Given the description of an element on the screen output the (x, y) to click on. 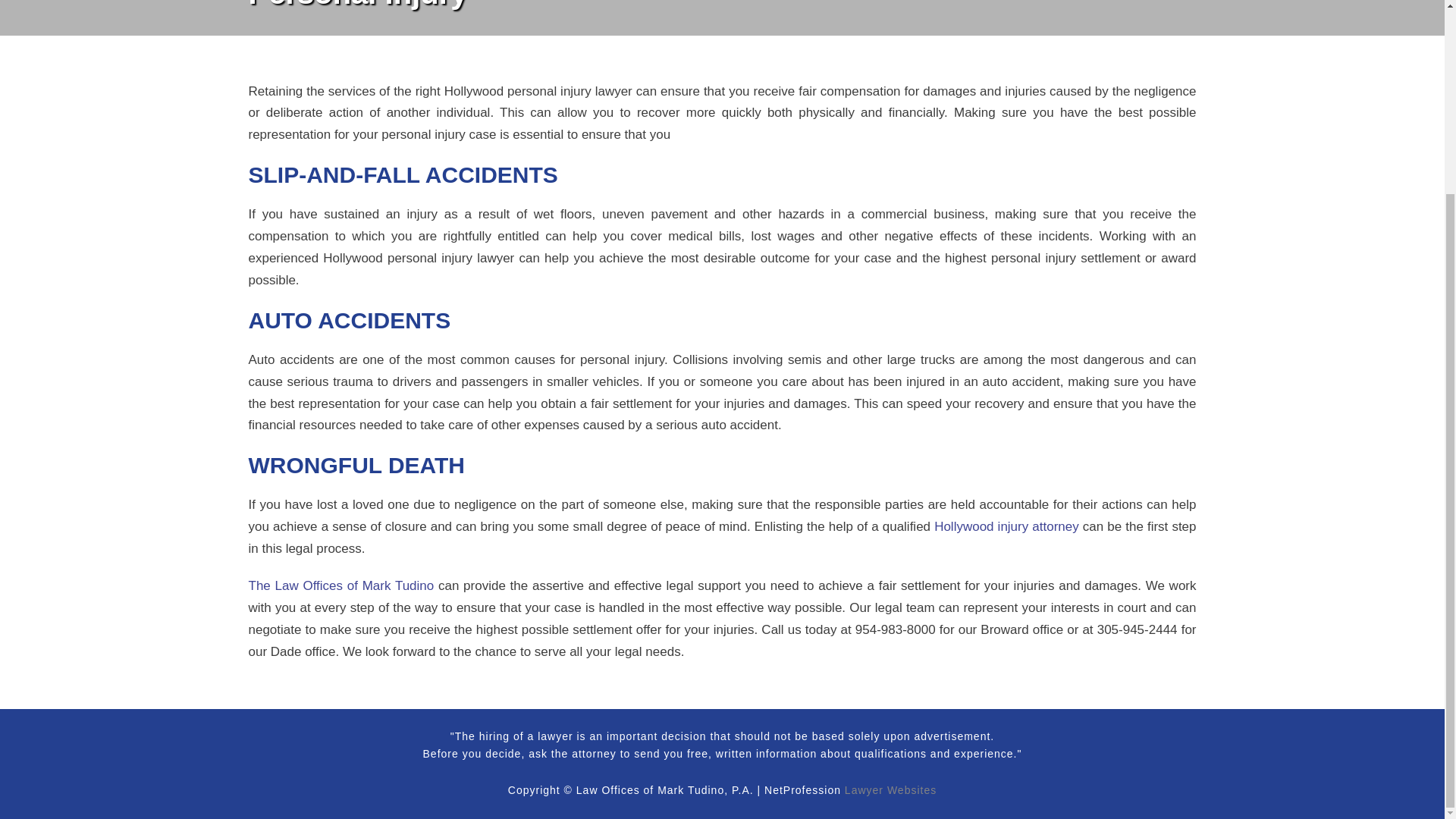
The Law Offices of Mark Tudino (340, 585)
Hollywood injury attorney (1006, 526)
Lawyer Websites (890, 789)
